Given the description of an element on the screen output the (x, y) to click on. 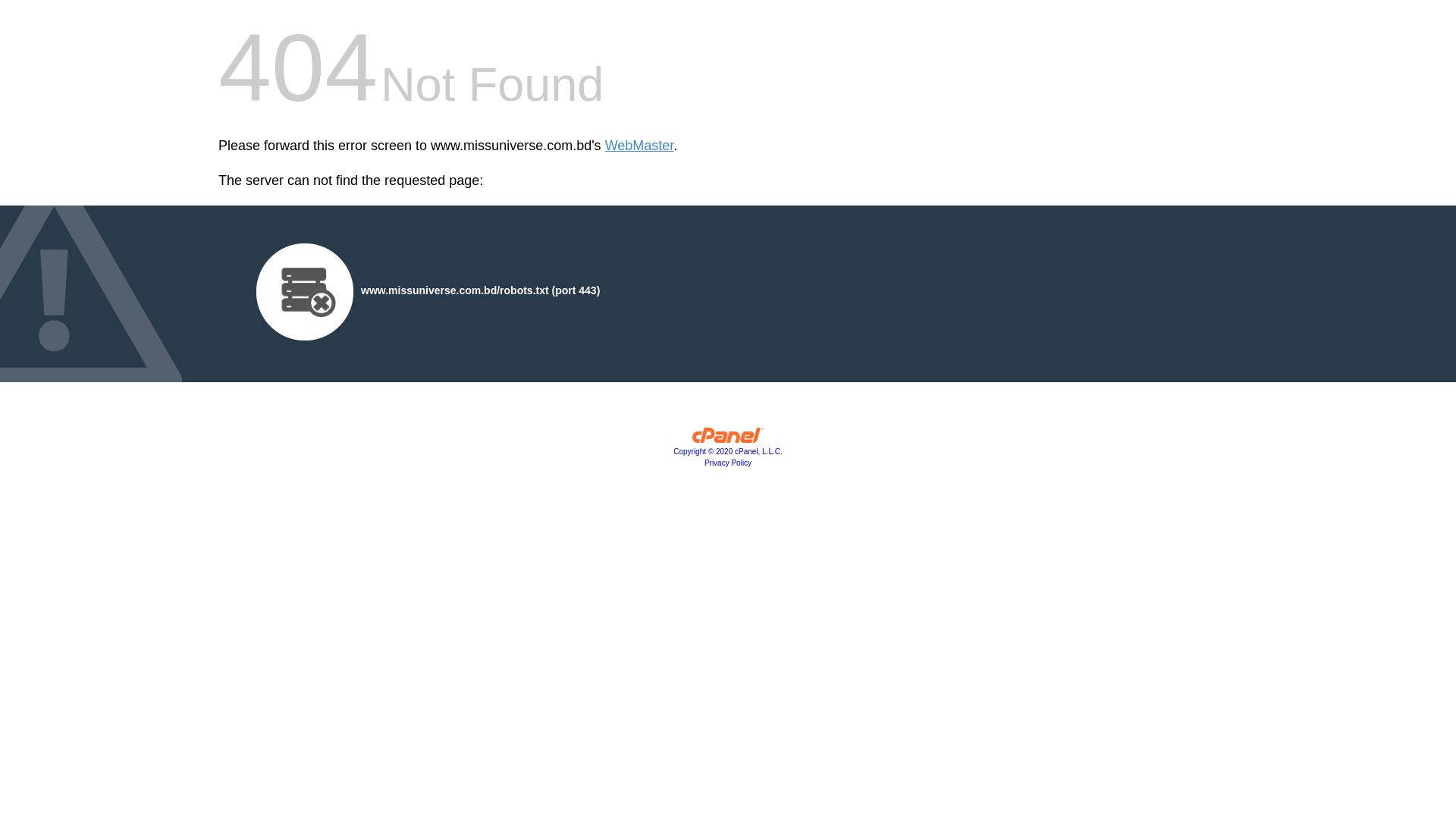
WebMaster Element type: text (639, 145)
cPanel, Inc. Element type: hover (728, 439)
Privacy Policy Element type: text (727, 462)
